Given the description of an element on the screen output the (x, y) to click on. 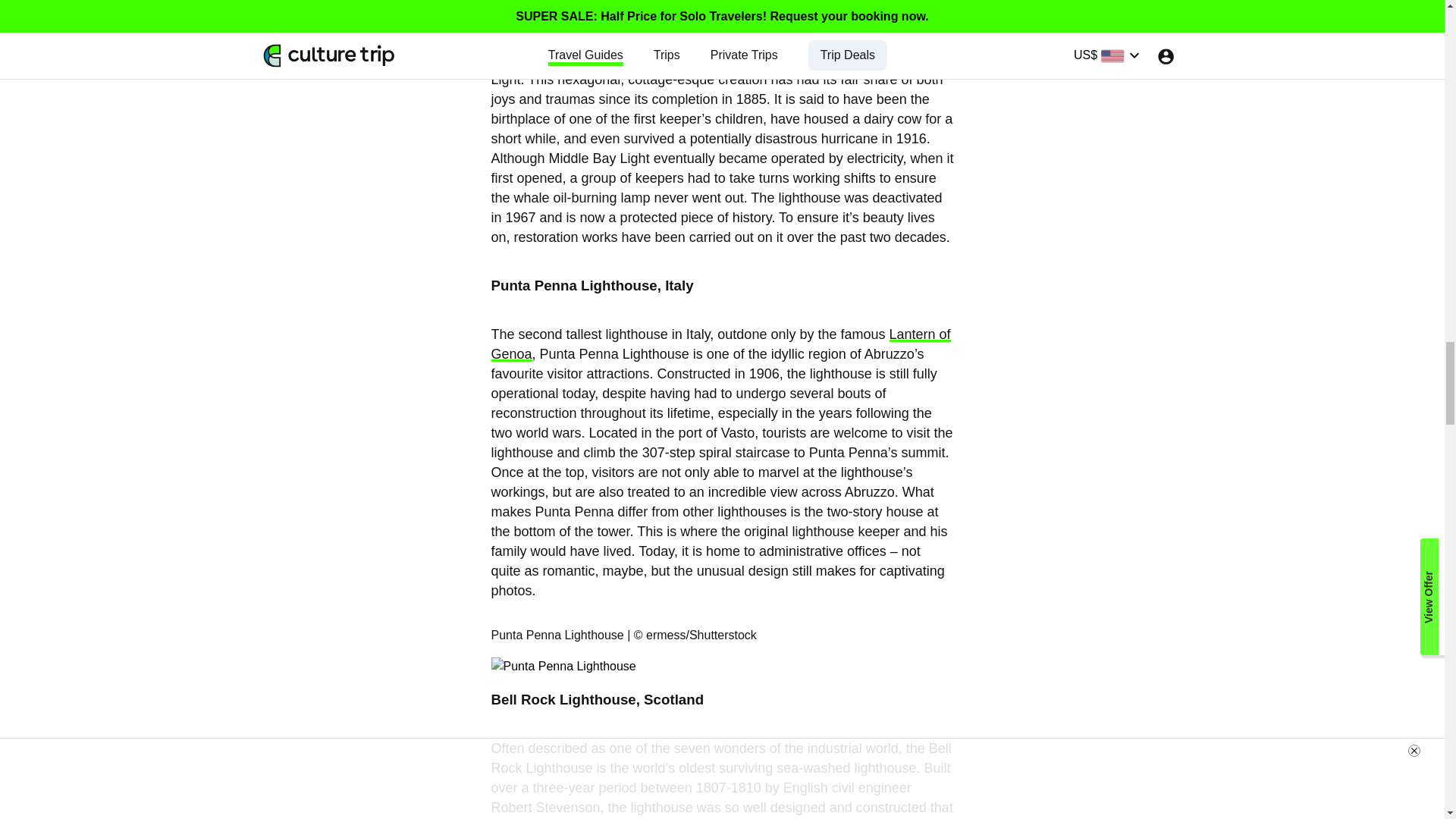
Mobile (781, 59)
Lantern of Genoa (721, 343)
